Given the description of an element on the screen output the (x, y) to click on. 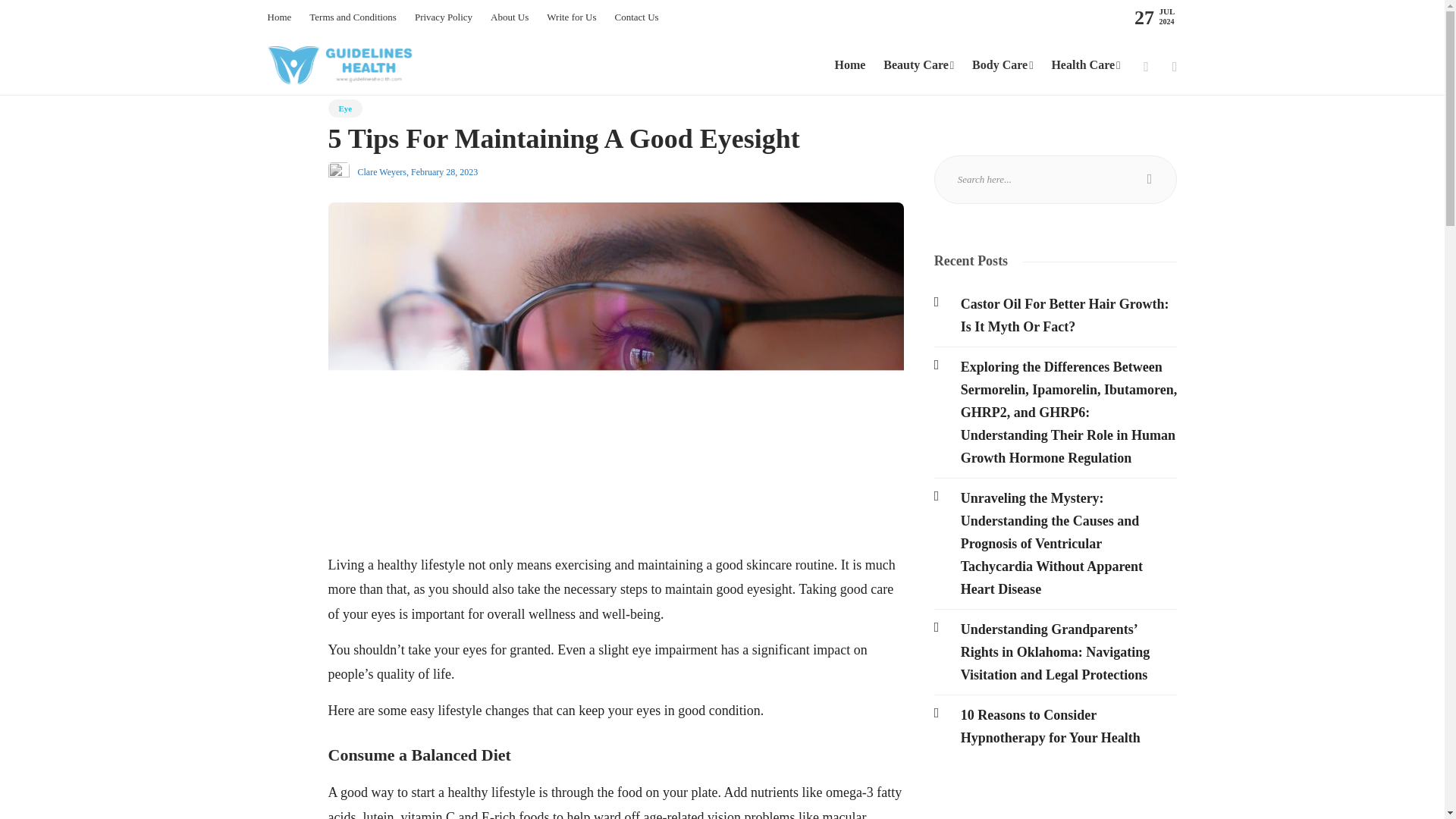
Privacy Policy (442, 17)
Eye (344, 108)
Search text (1055, 179)
About Us (509, 17)
Beauty Care (918, 65)
5 Tips For Maintaining A Good Eyesight (603, 142)
Terms and Conditions (352, 17)
Write for Us (571, 17)
Health Care (1085, 65)
February 28, 2023 (443, 172)
Contact Us (636, 17)
Home (278, 17)
Body Care (1002, 65)
Clare Weyers (382, 172)
Home (849, 65)
